Given the description of an element on the screen output the (x, y) to click on. 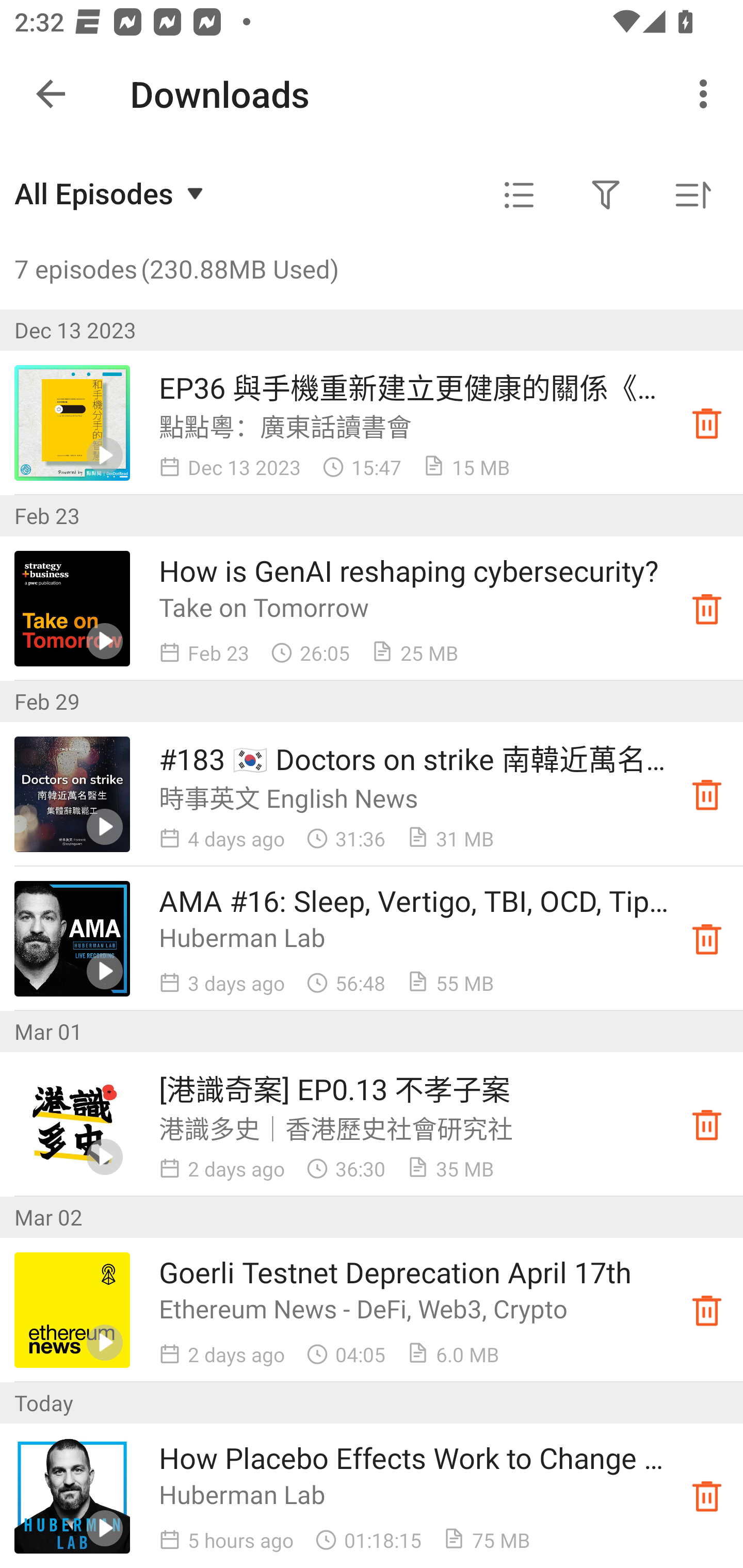
Navigate up (50, 93)
More options (706, 93)
All Episodes (111, 192)
 (518, 195)
 (605, 195)
 Sorted by oldest first (692, 195)
Downloaded (706, 423)
Downloaded (706, 608)
Downloaded (706, 794)
Downloaded (706, 938)
Downloaded (706, 1124)
Downloaded (706, 1309)
Downloaded (706, 1495)
